Given the description of an element on the screen output the (x, y) to click on. 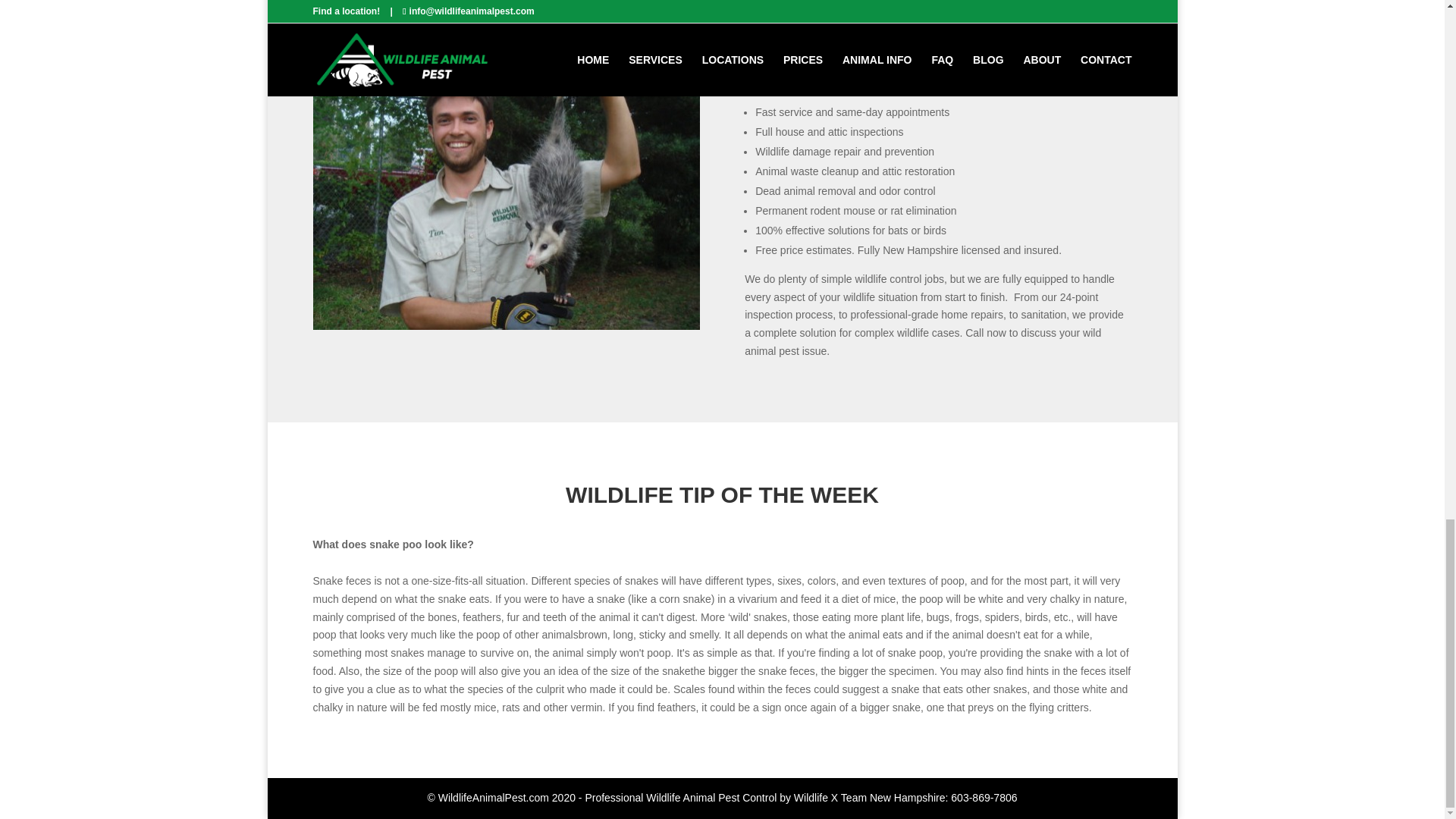
1 (493, 299)
DSC01003-scaled-container (505, 326)
